Given the description of an element on the screen output the (x, y) to click on. 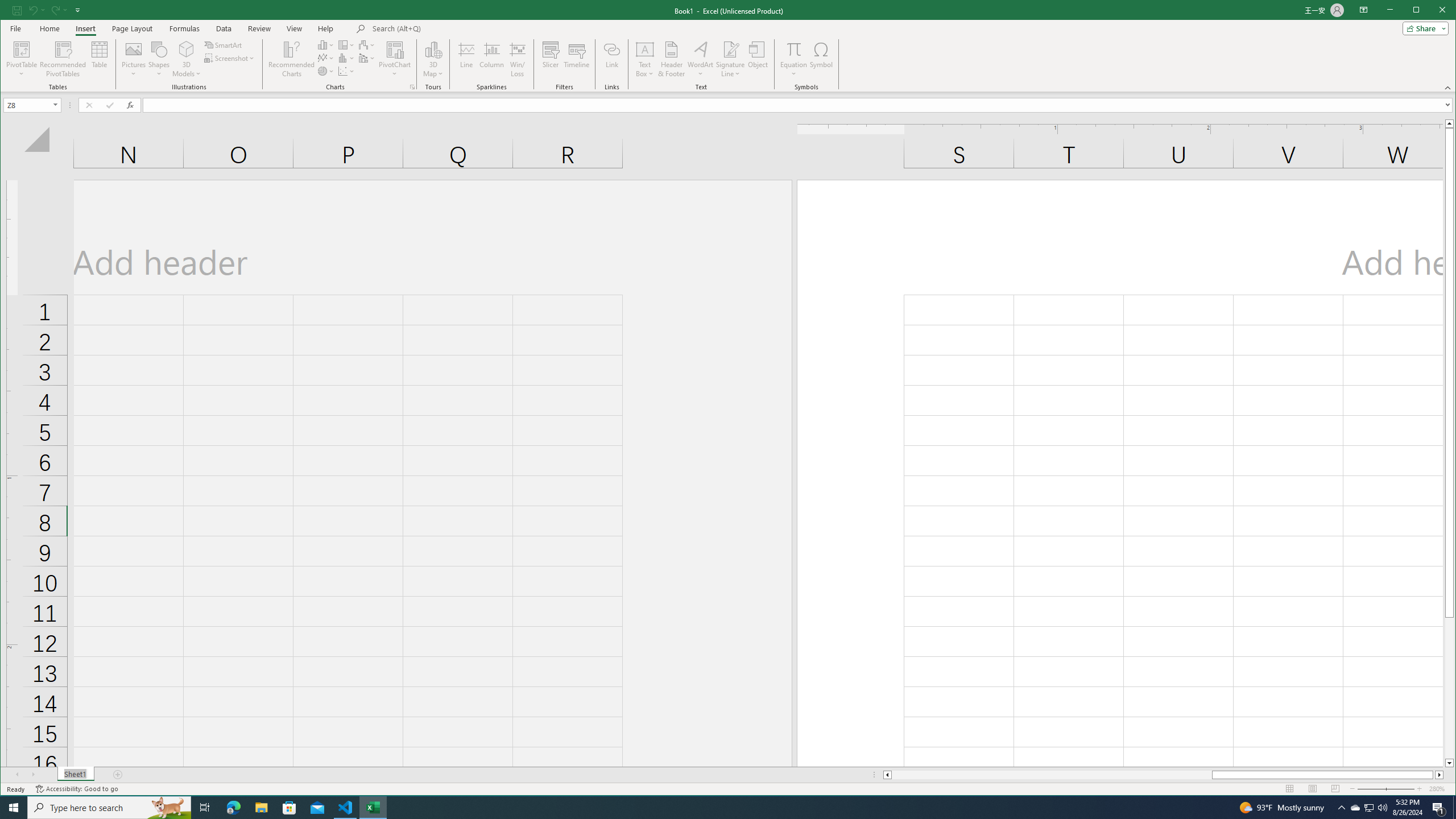
Undo (32, 9)
3D Models (186, 48)
Redo (58, 9)
Signature Line (729, 48)
3D Map (432, 59)
Link (611, 59)
Insert Line or Area Chart (325, 57)
Text Box (644, 59)
Draw Horizontal Text Box (644, 48)
Equation (793, 59)
Insert Pie or Doughnut Chart (325, 70)
Screenshot (229, 57)
Pictures (133, 59)
Insert Scatter (X, Y) or Bubble Chart (346, 70)
